Given the description of an element on the screen output the (x, y) to click on. 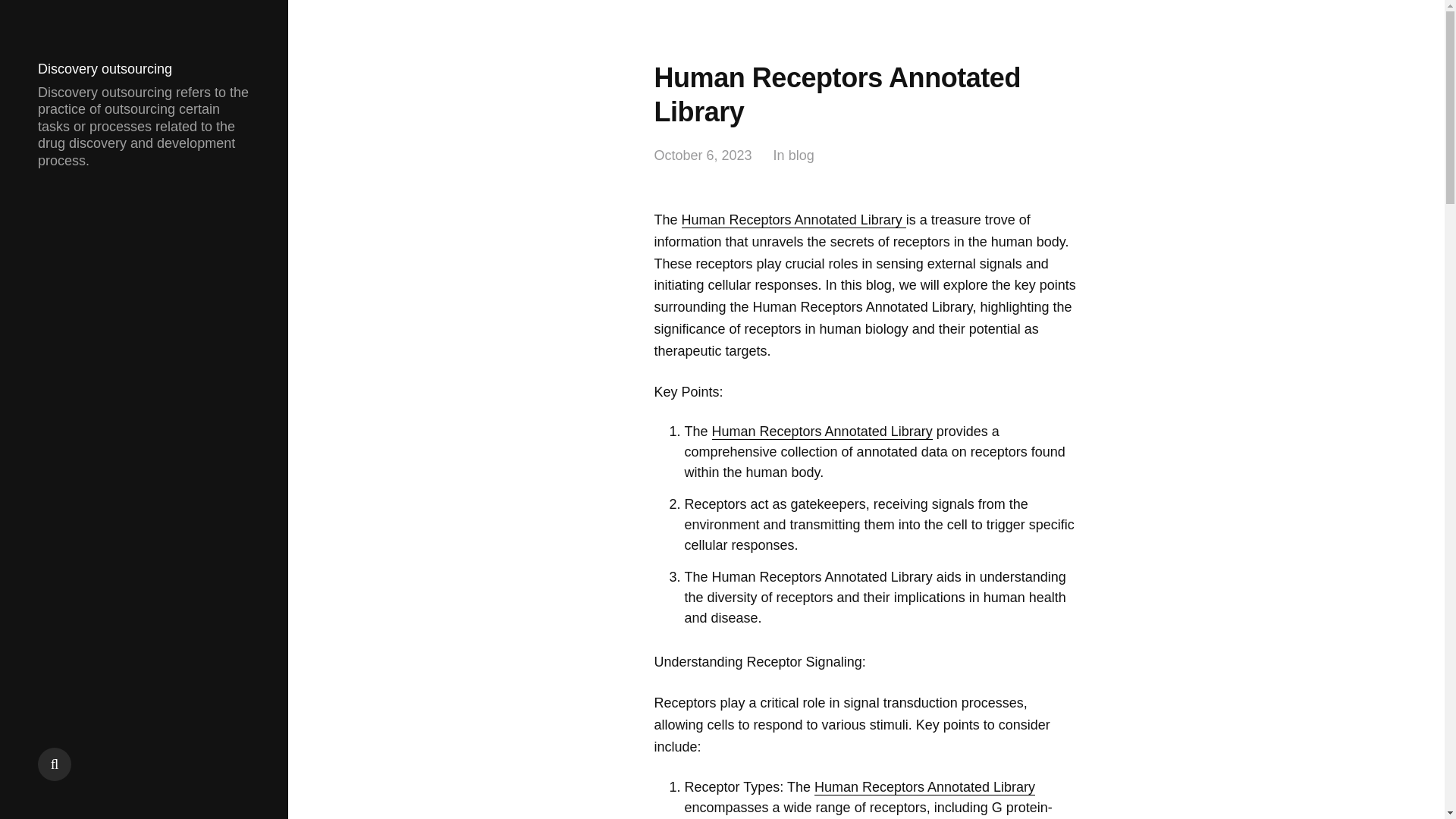
blog (801, 155)
Human Receptors Annotated Library (924, 787)
Human Receptors Annotated Library (822, 431)
Discovery outsourcing (104, 68)
Human Receptors Annotated Library (793, 220)
October 6, 2023 (702, 155)
